Given the description of an element on the screen output the (x, y) to click on. 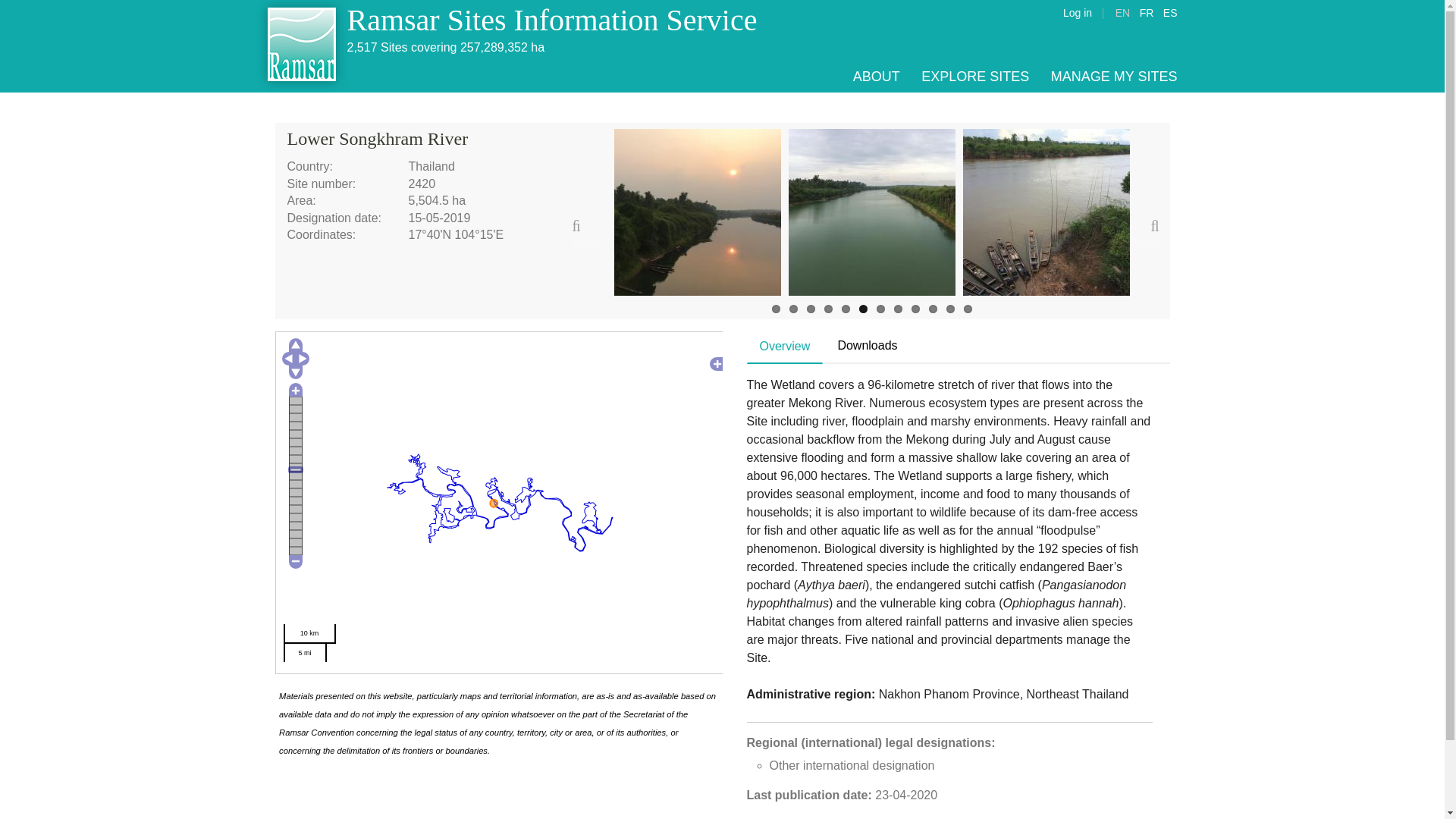
10 (932, 308)
Ramsar Sites Information Service (552, 19)
12 (966, 308)
8 (897, 308)
3 (810, 308)
2 (792, 308)
5 (845, 308)
Life of locals at the river. (1045, 211)
Overview (785, 346)
Log in (1077, 12)
4 (827, 308)
7 (880, 308)
ES (1170, 12)
Previous (587, 232)
EXPLORE SITES (975, 76)
